Given the description of an element on the screen output the (x, y) to click on. 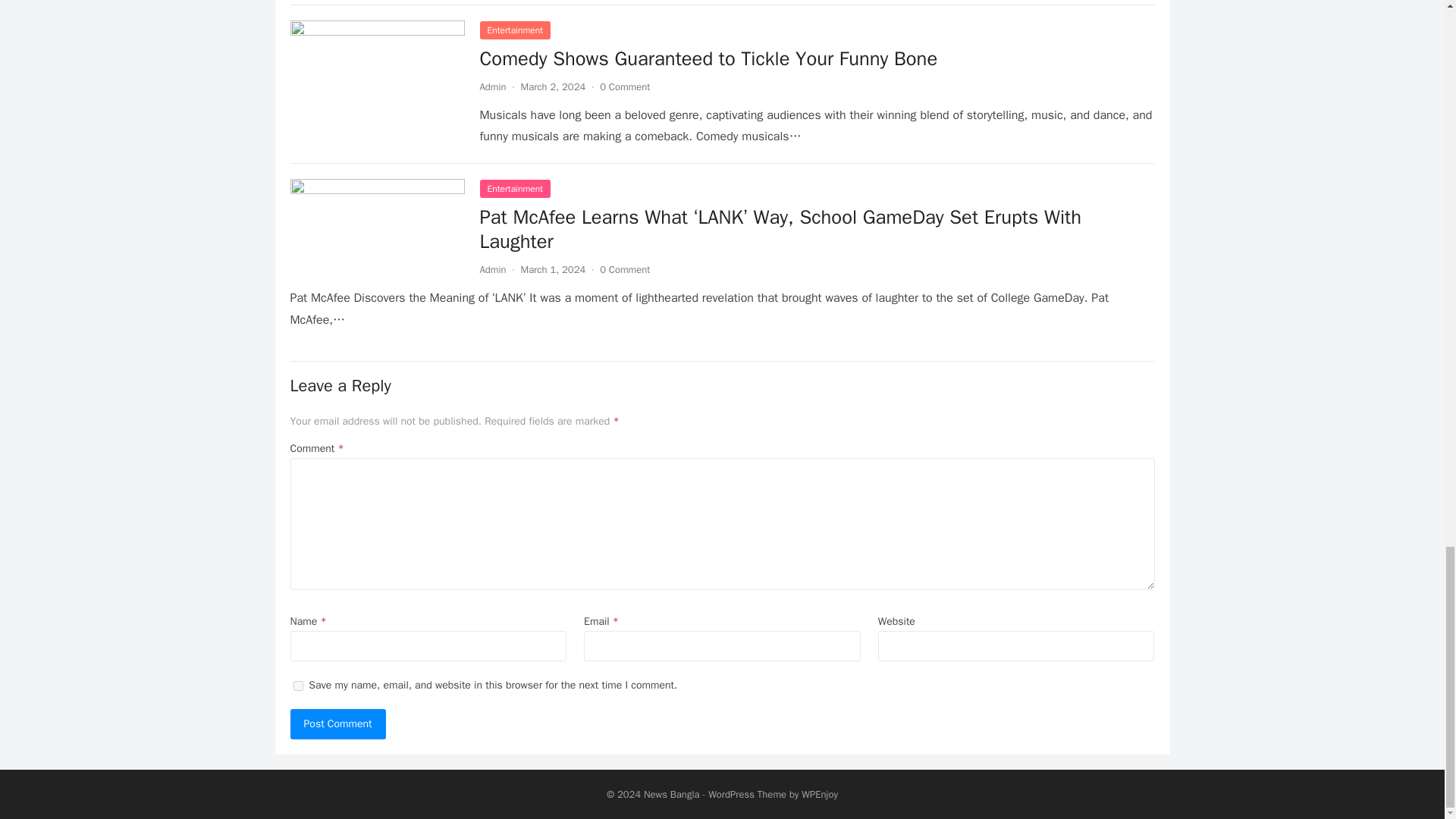
Comedy Shows Guaranteed to Tickle Your Funny Bone (708, 58)
yes (297, 685)
Entertainment (514, 30)
Posts by Admin (492, 86)
Post Comment (337, 724)
Posts by Admin (492, 269)
Admin (492, 86)
